Given the description of an element on the screen output the (x, y) to click on. 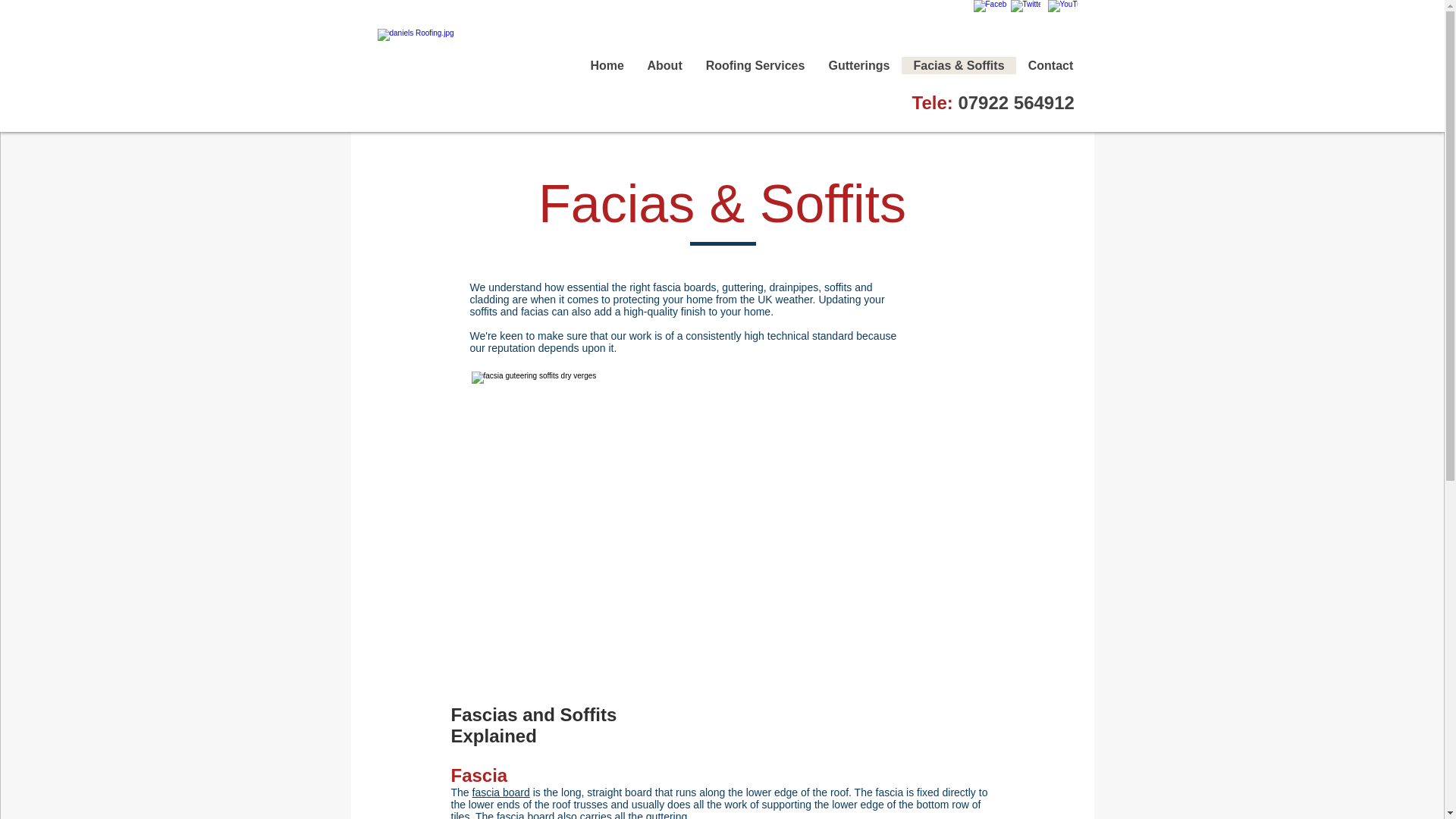
Gutterings (858, 65)
Roofing Services (754, 65)
fascia board (500, 792)
Contact (1050, 65)
Home (606, 65)
pvc gutters, fascia, soffits, dry verges explained (679, 504)
About (664, 65)
